Given the description of an element on the screen output the (x, y) to click on. 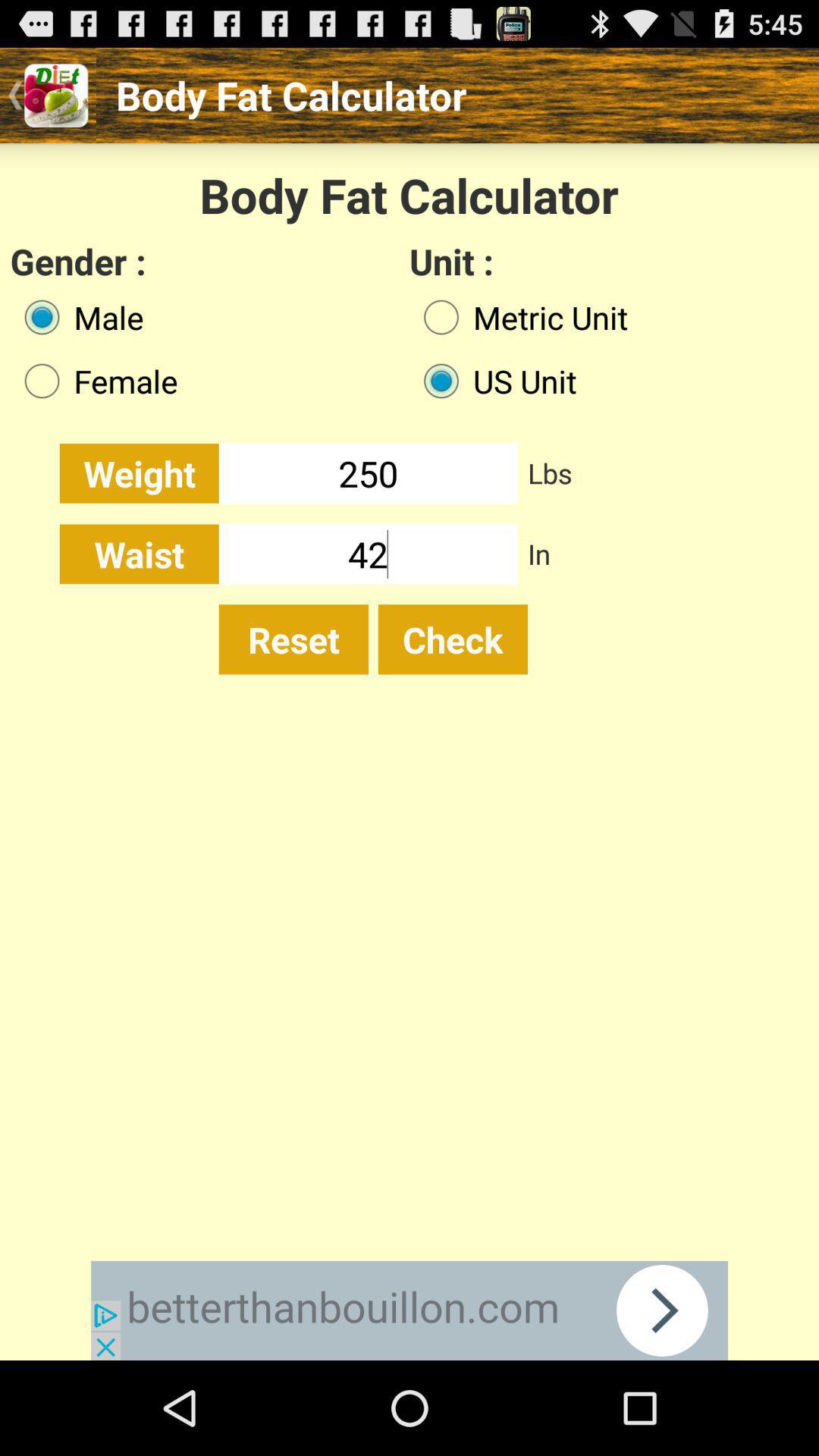
see advertisement (409, 1310)
